Given the description of an element on the screen output the (x, y) to click on. 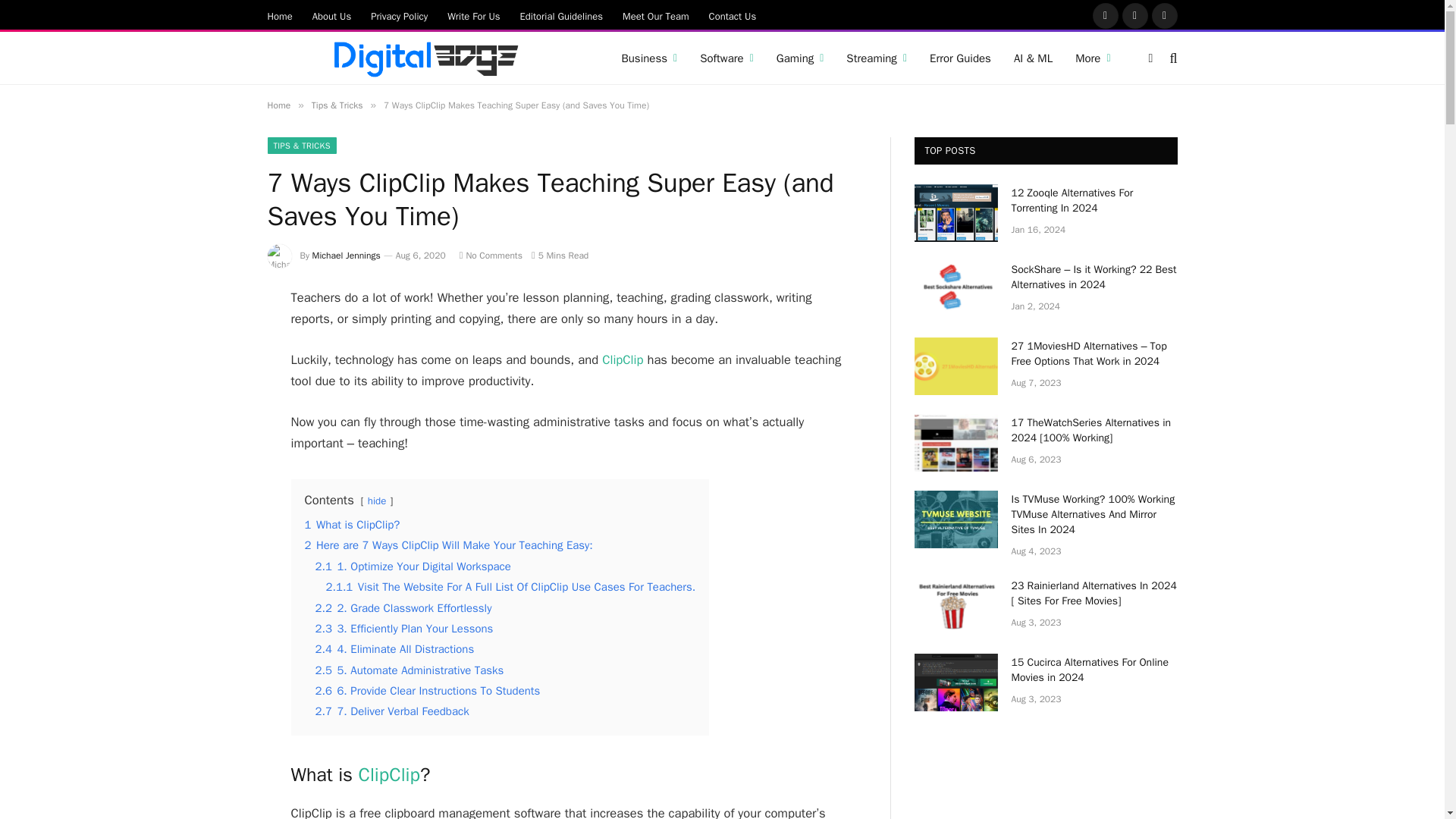
Digital Edge (424, 58)
Posts by Michael Jennings (346, 255)
Privacy Policy (399, 15)
Home (279, 15)
Switch to Dark Design - easier on eyes. (1149, 57)
Write For Us (473, 15)
12 Zooqle Alternatives For Torrenting In 2024 (955, 212)
About Us (331, 15)
